Given the description of an element on the screen output the (x, y) to click on. 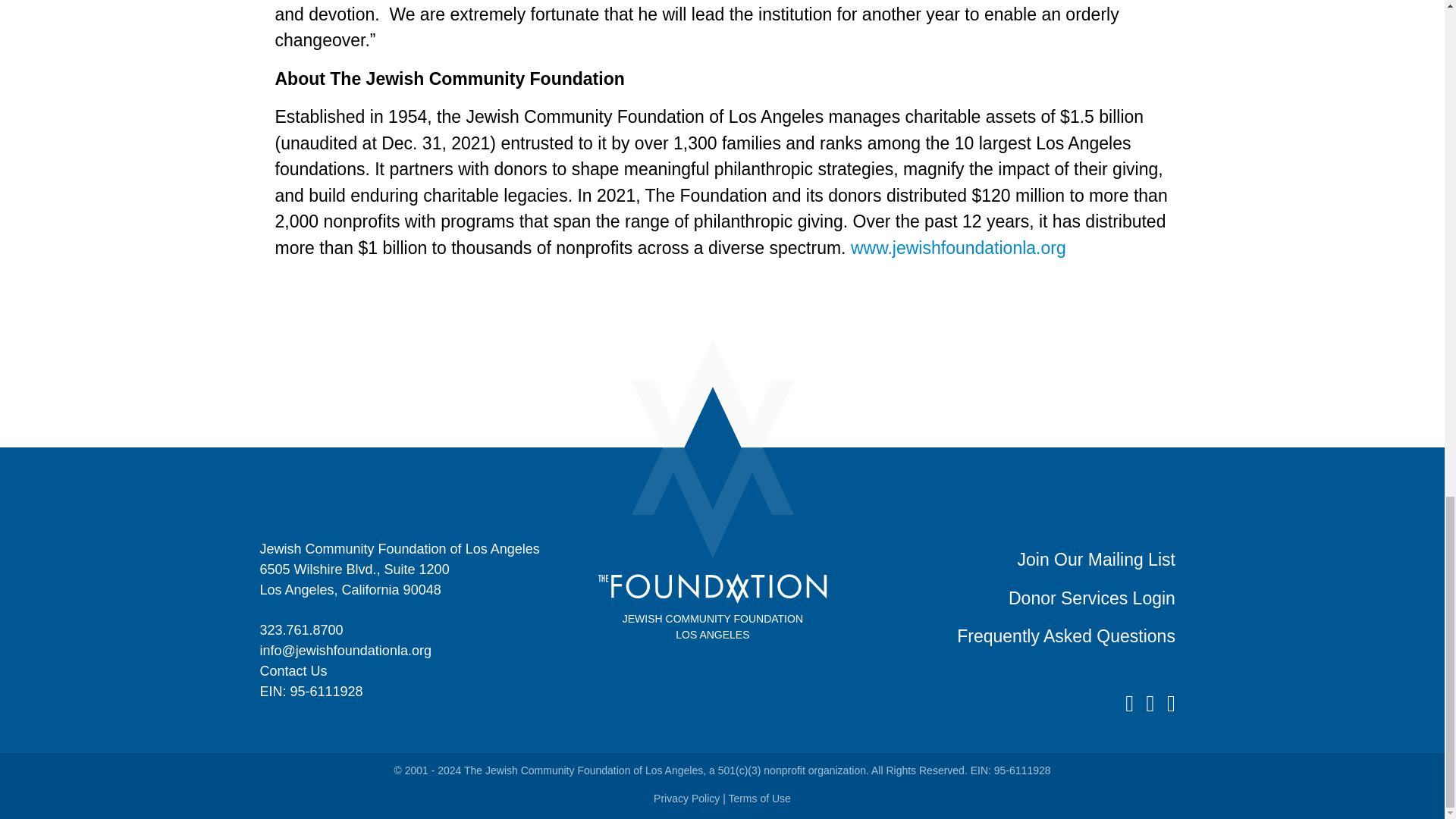
header-logo (712, 588)
